Given the description of an element on the screen output the (x, y) to click on. 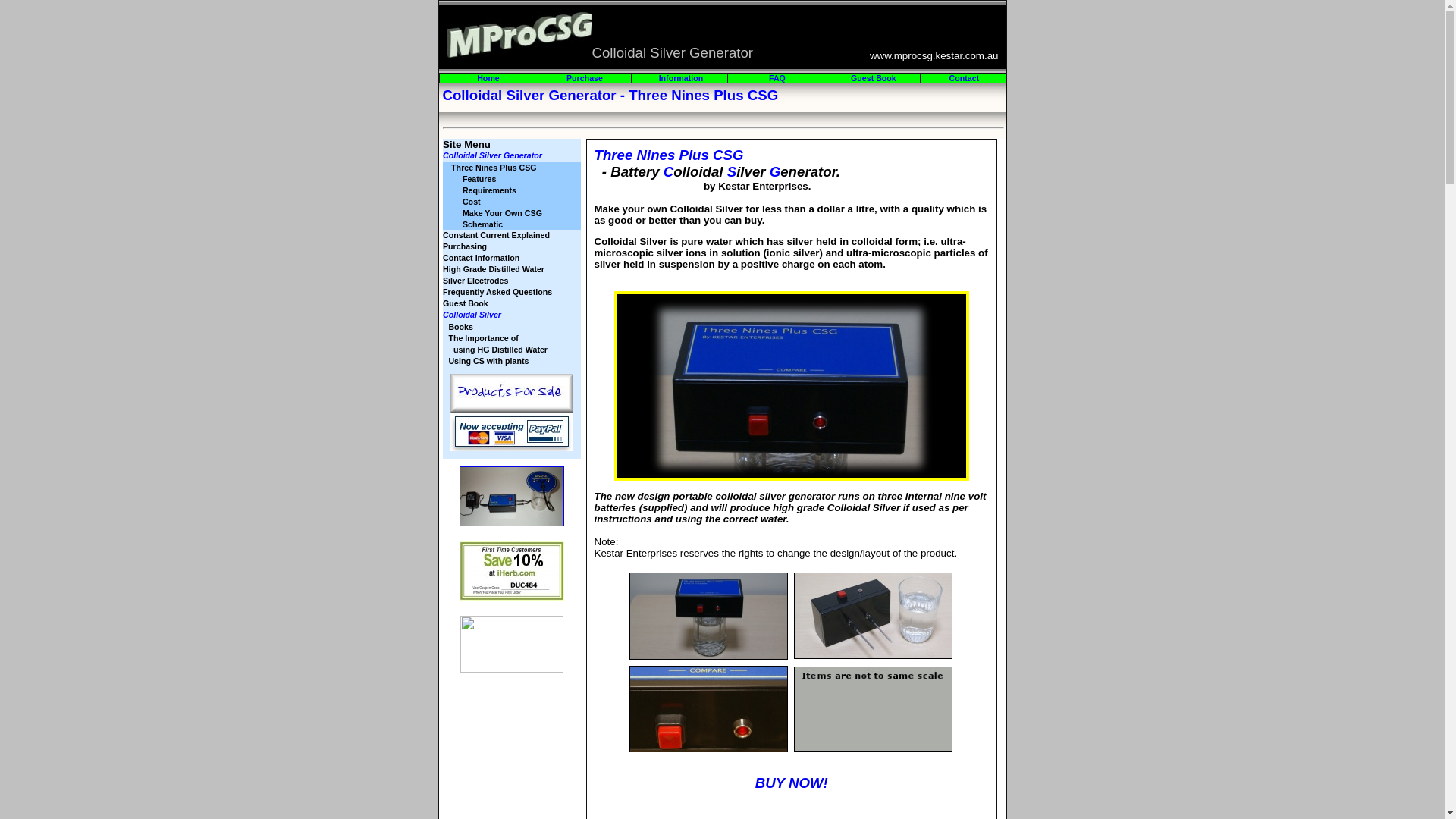
Purchasing Element type: text (464, 246)
High Grade Distilled Water Element type: text (493, 268)
Home Element type: text (487, 77)
 using HG Distilled Water Element type: text (499, 348)
Using CS with plants Element type: text (488, 360)
The Importance of Element type: text (482, 337)
FAQ Element type: text (776, 77)
Contact Information Element type: text (480, 257)
Features Element type: text (478, 178)
Three Nines Plus CSG Element type: text (493, 166)
Make Your Own CSG Element type: text (502, 211)
Guest Book Element type: text (873, 77)
Schematic Element type: text (482, 224)
Purchase Element type: text (584, 77)
Cost Element type: text (471, 201)
Guest Book Element type: text (465, 302)
Constant Current Explained Element type: text (495, 234)
Information Element type: text (680, 77)
Books Element type: text (460, 325)
Silver Electrodes Element type: text (475, 280)
Frequently Asked Questions Element type: text (497, 291)
Requirements Element type: text (489, 189)
Contact Element type: text (964, 77)
BUY NOW! Element type: text (791, 782)
